Given the description of an element on the screen output the (x, y) to click on. 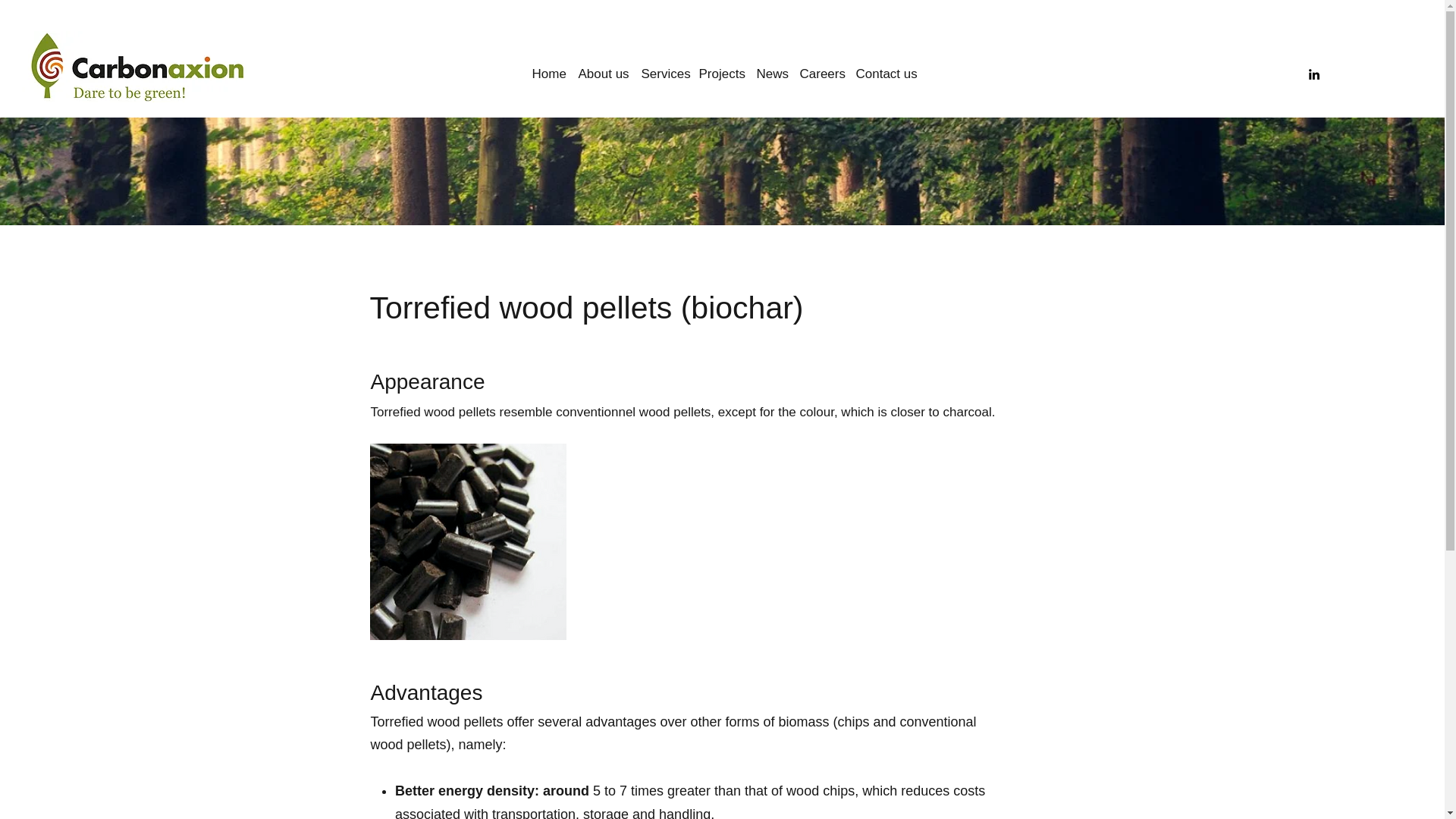
Home (548, 66)
Careers (820, 66)
Contact us (884, 66)
News (772, 66)
Services (663, 66)
About us (603, 66)
Projects (722, 66)
